Given the description of an element on the screen output the (x, y) to click on. 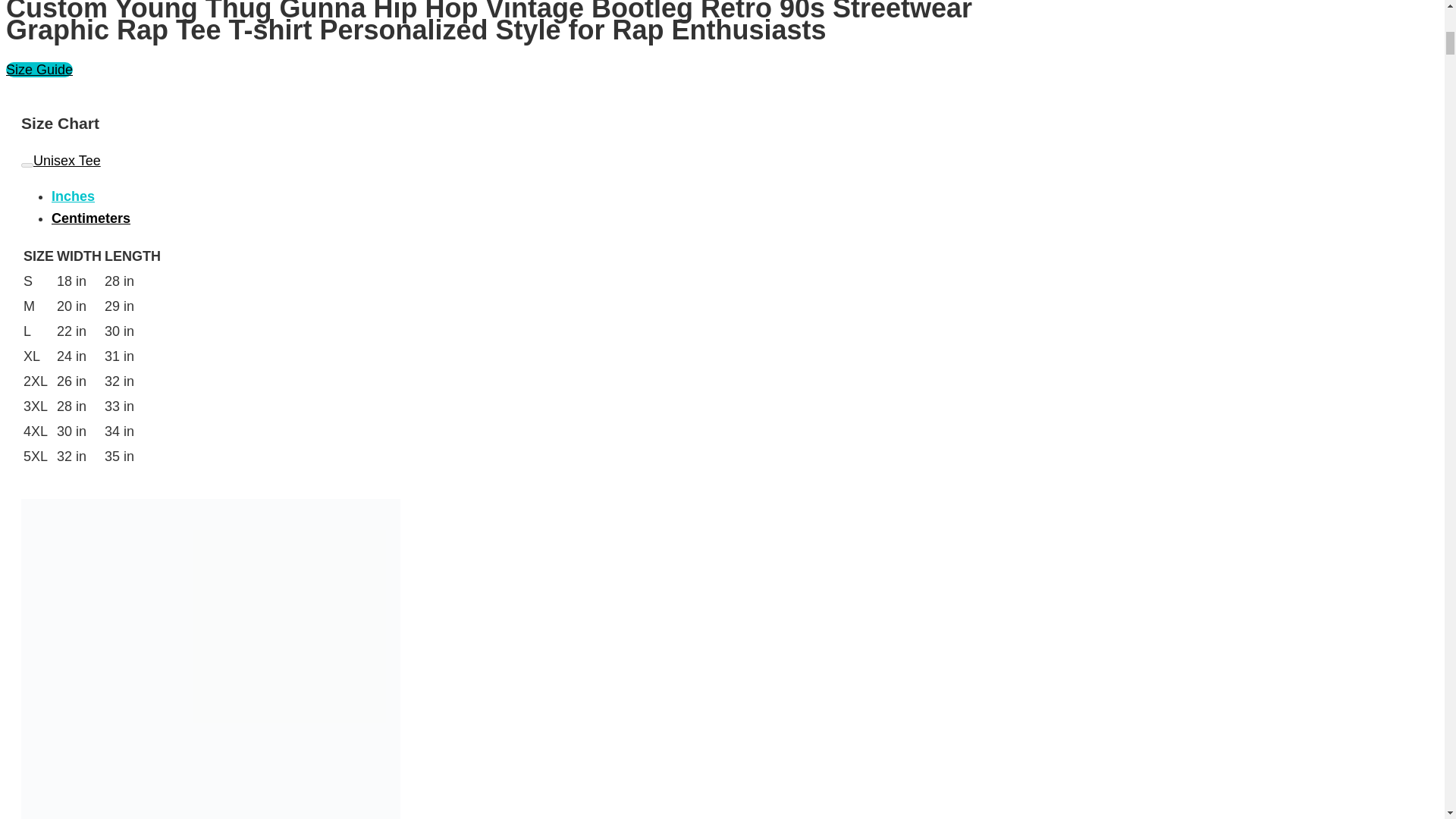
Unisex Tee (60, 160)
Centimeters (90, 218)
Inches (72, 196)
Size Guide (38, 69)
